Given the description of an element on the screen output the (x, y) to click on. 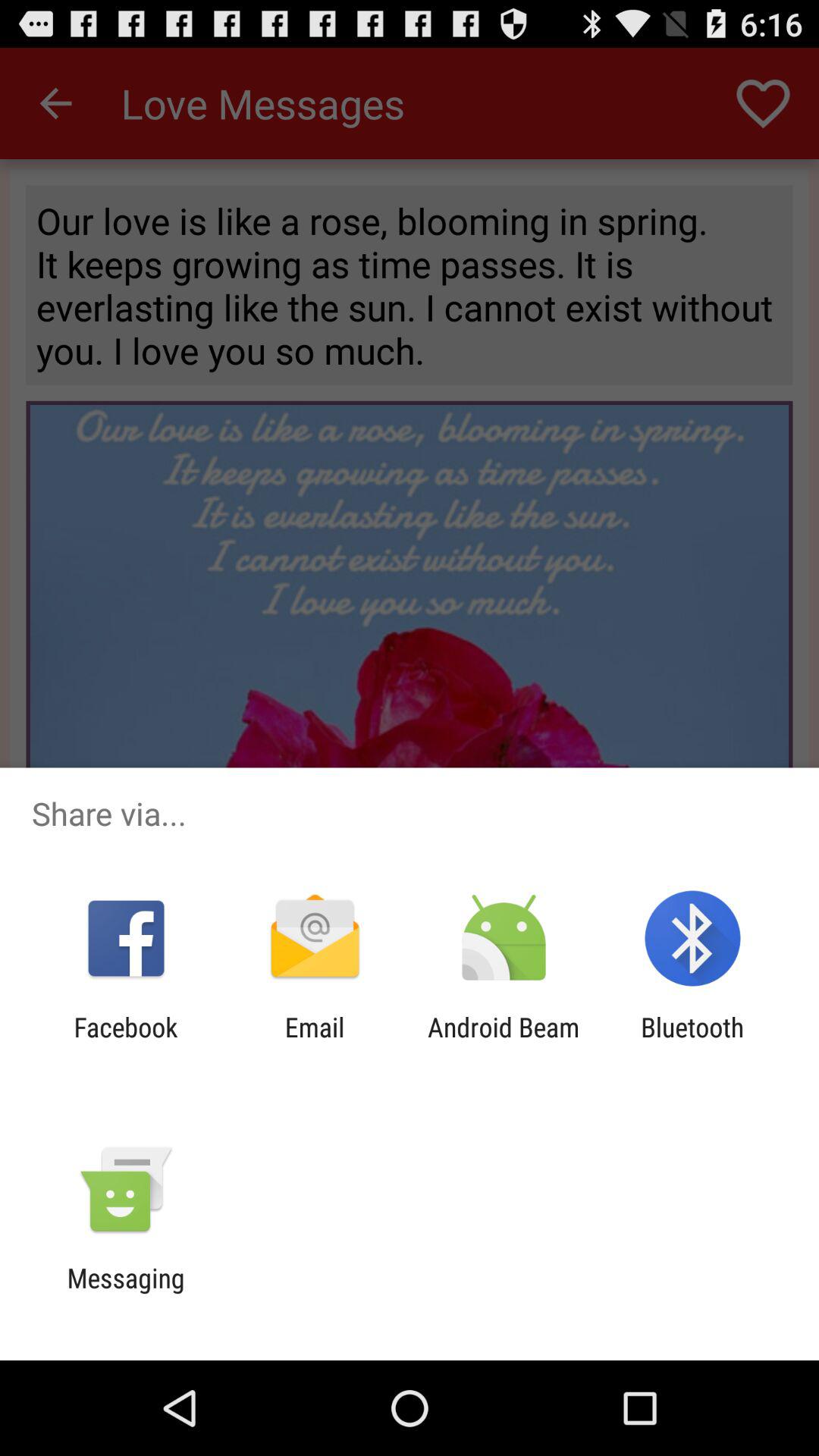
tap email item (314, 1042)
